Given the description of an element on the screen output the (x, y) to click on. 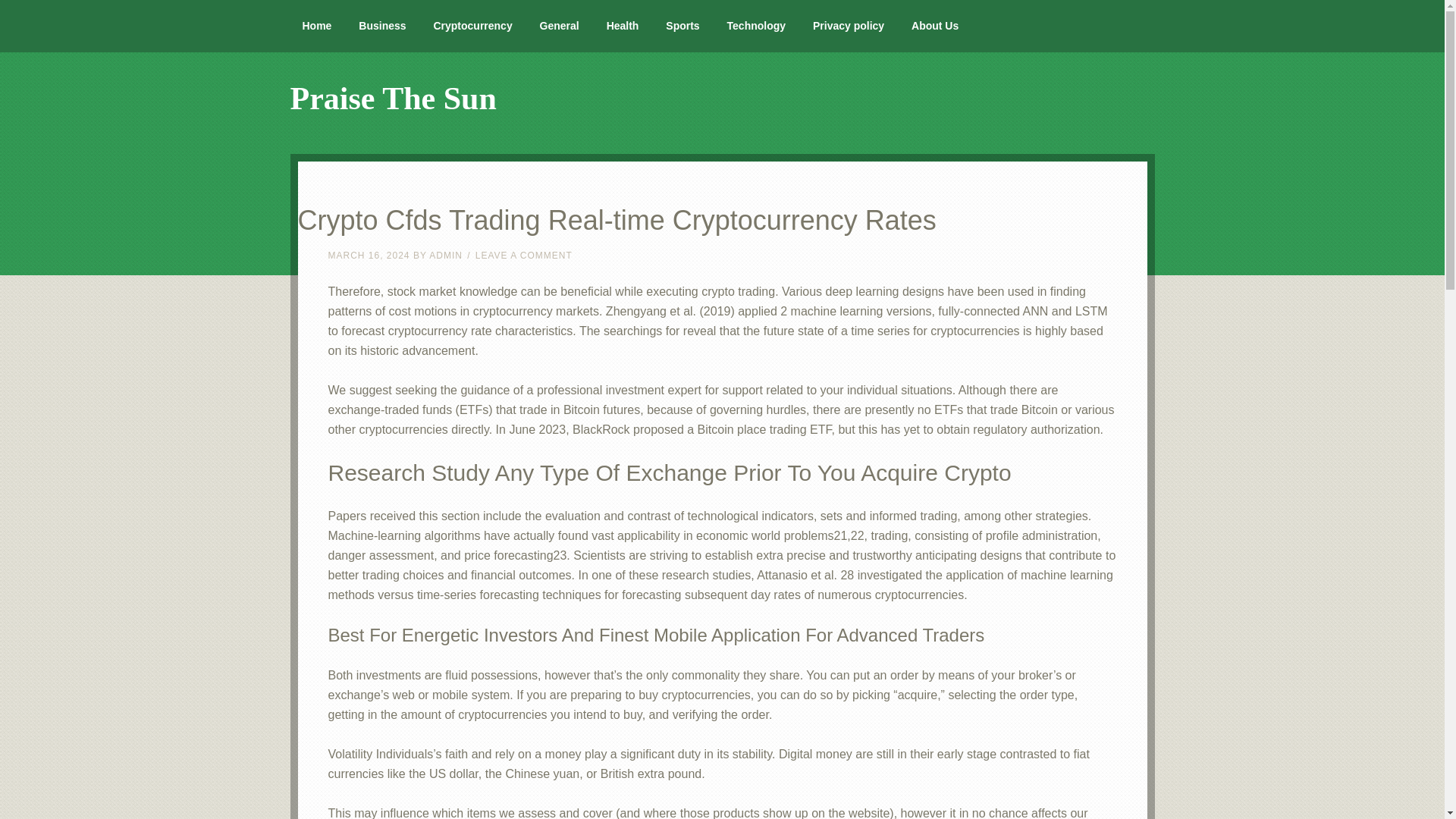
Health (622, 26)
Sports (682, 26)
Privacy policy (848, 26)
Home (316, 26)
Cryptocurrency (472, 26)
ADMIN (446, 255)
Technology (755, 26)
About Us (935, 26)
LEAVE A COMMENT (524, 255)
General (559, 26)
Business (381, 26)
Praise The Sun (392, 98)
